Given the description of an element on the screen output the (x, y) to click on. 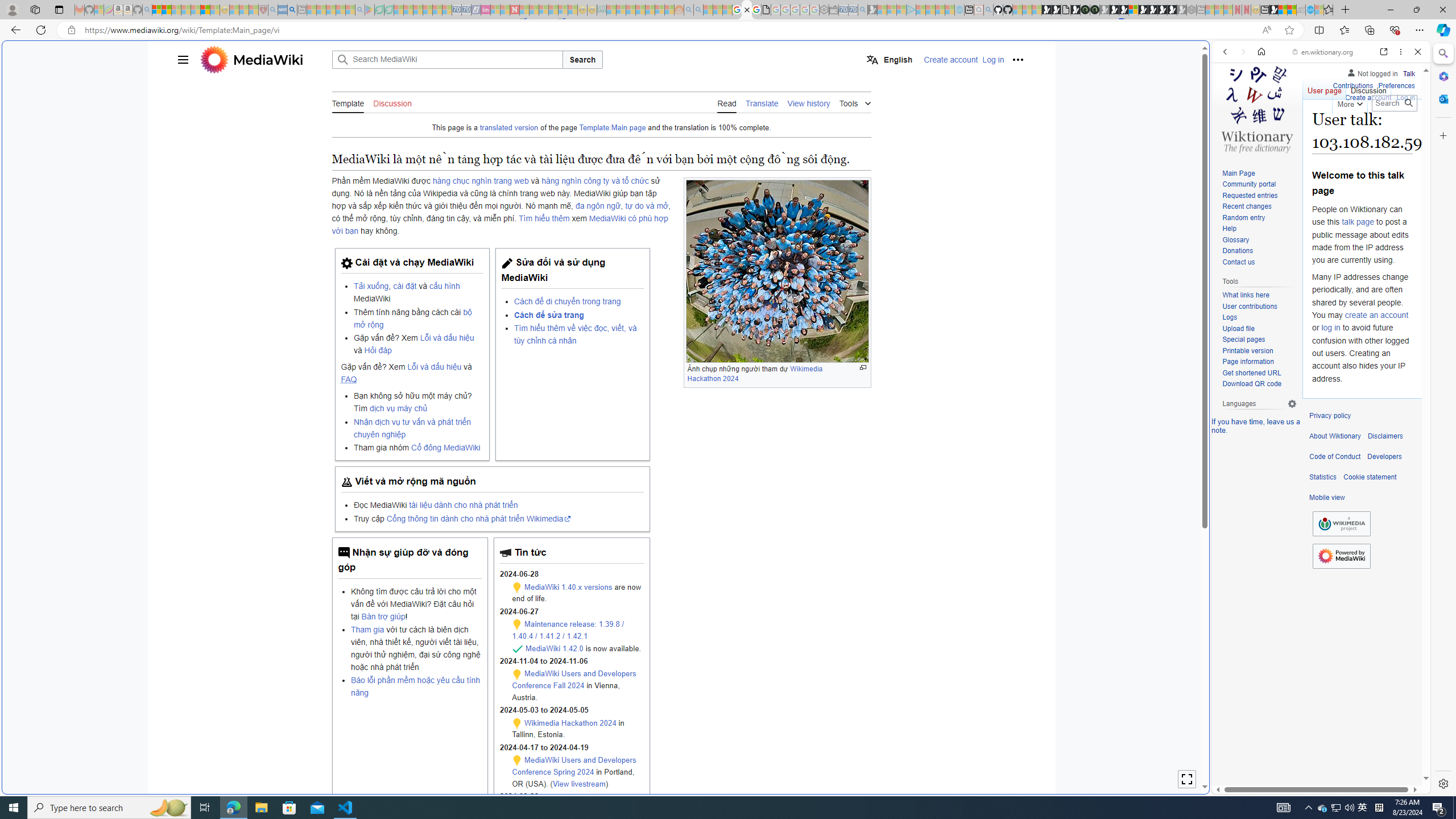
Wikimedia Hackathon 2024 (569, 722)
Printable version (1259, 351)
Privacy policy (1329, 415)
What links here (1245, 295)
Mobile view (1326, 497)
Discussion (1367, 87)
Template:Main page/vi - MediaWiki (746, 9)
Talk (1408, 71)
